Given the description of an element on the screen output the (x, y) to click on. 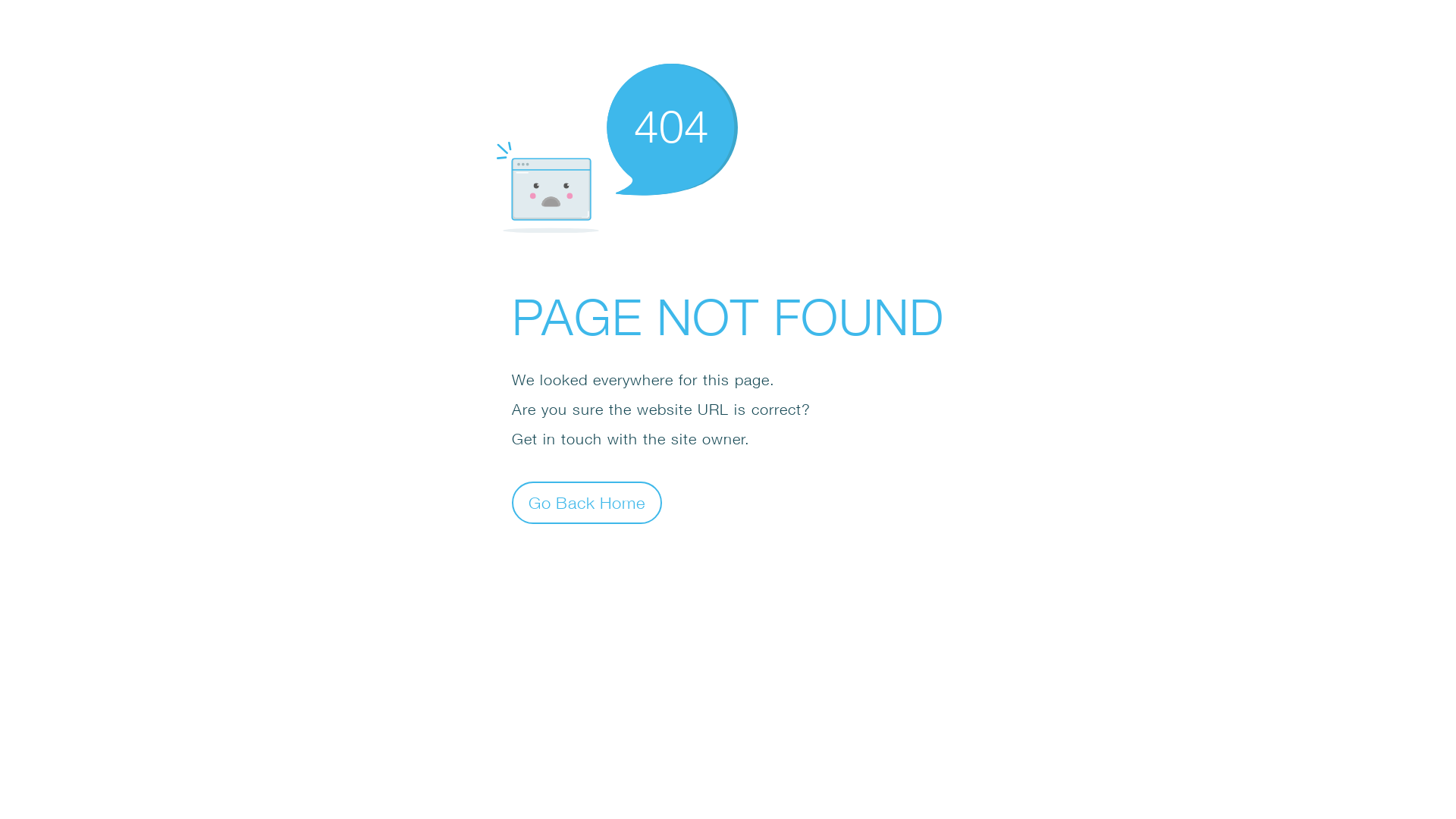
Go Back Home Element type: text (586, 502)
